Given the description of an element on the screen output the (x, y) to click on. 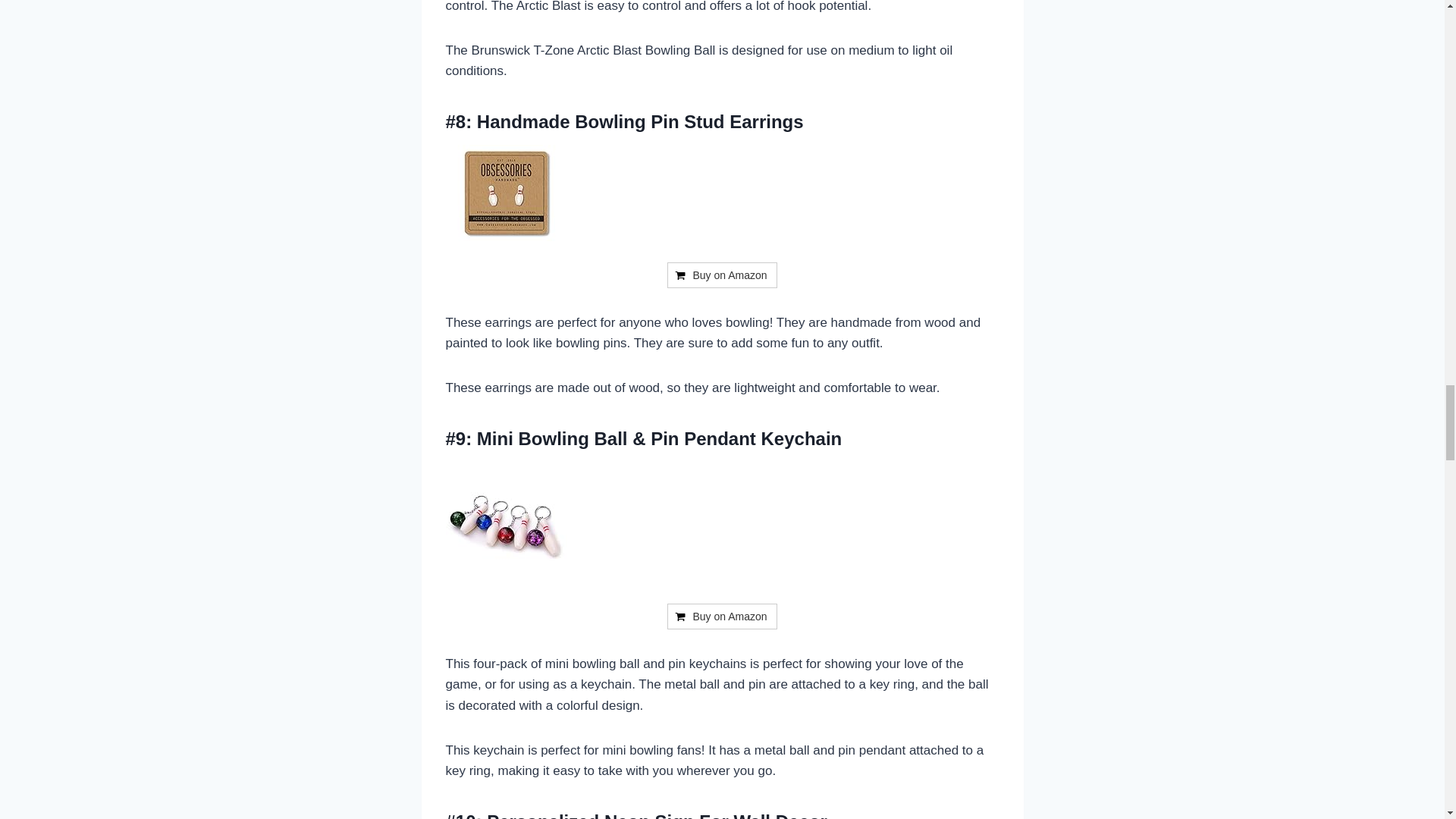
Buy on Amazon (721, 616)
Buy on Amazon (721, 275)
